Given the description of an element on the screen output the (x, y) to click on. 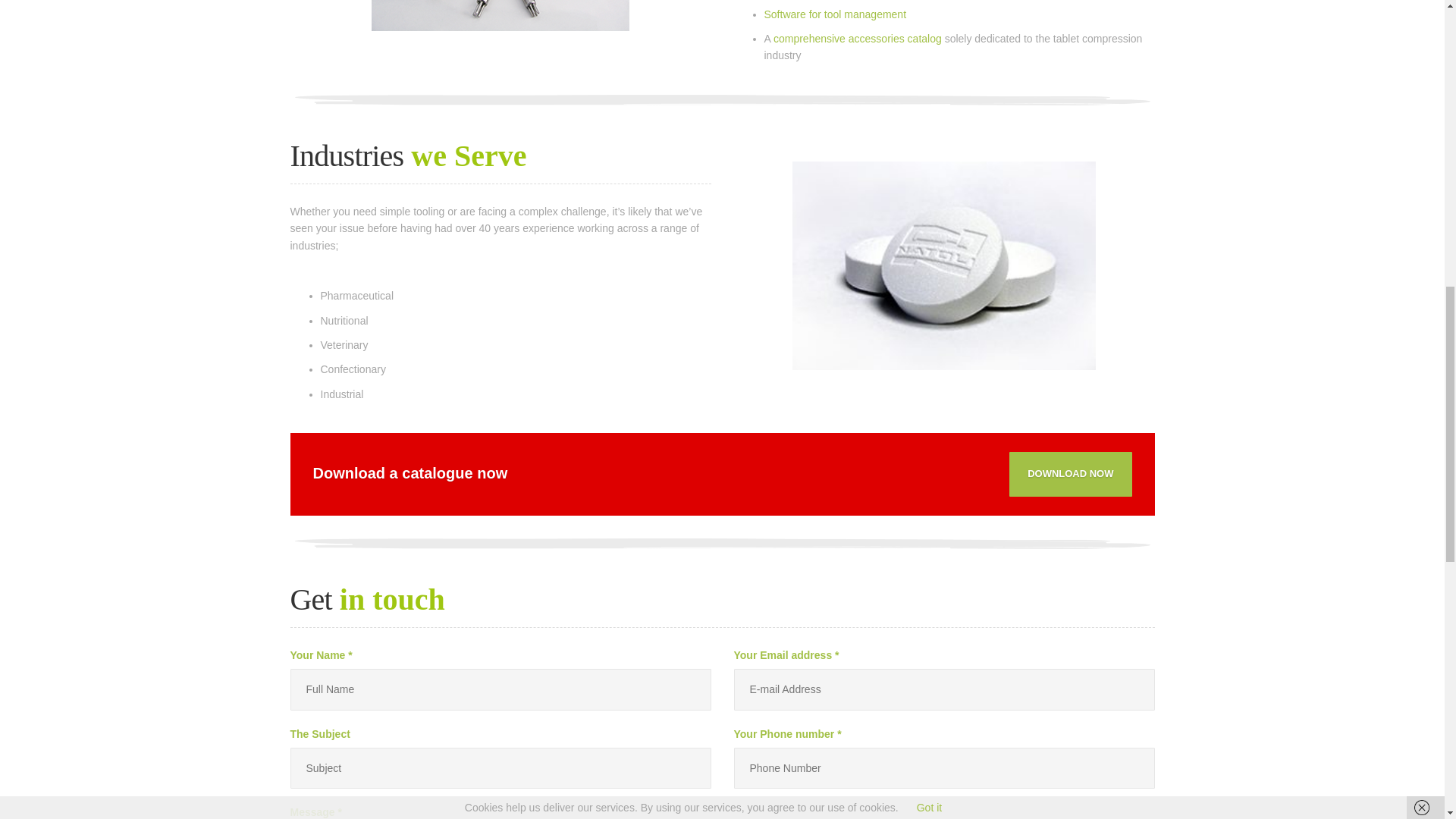
comprehensive accessories catalog (857, 38)
Software for tool management (835, 14)
DOWNLOAD NOW (1070, 474)
